Given the description of an element on the screen output the (x, y) to click on. 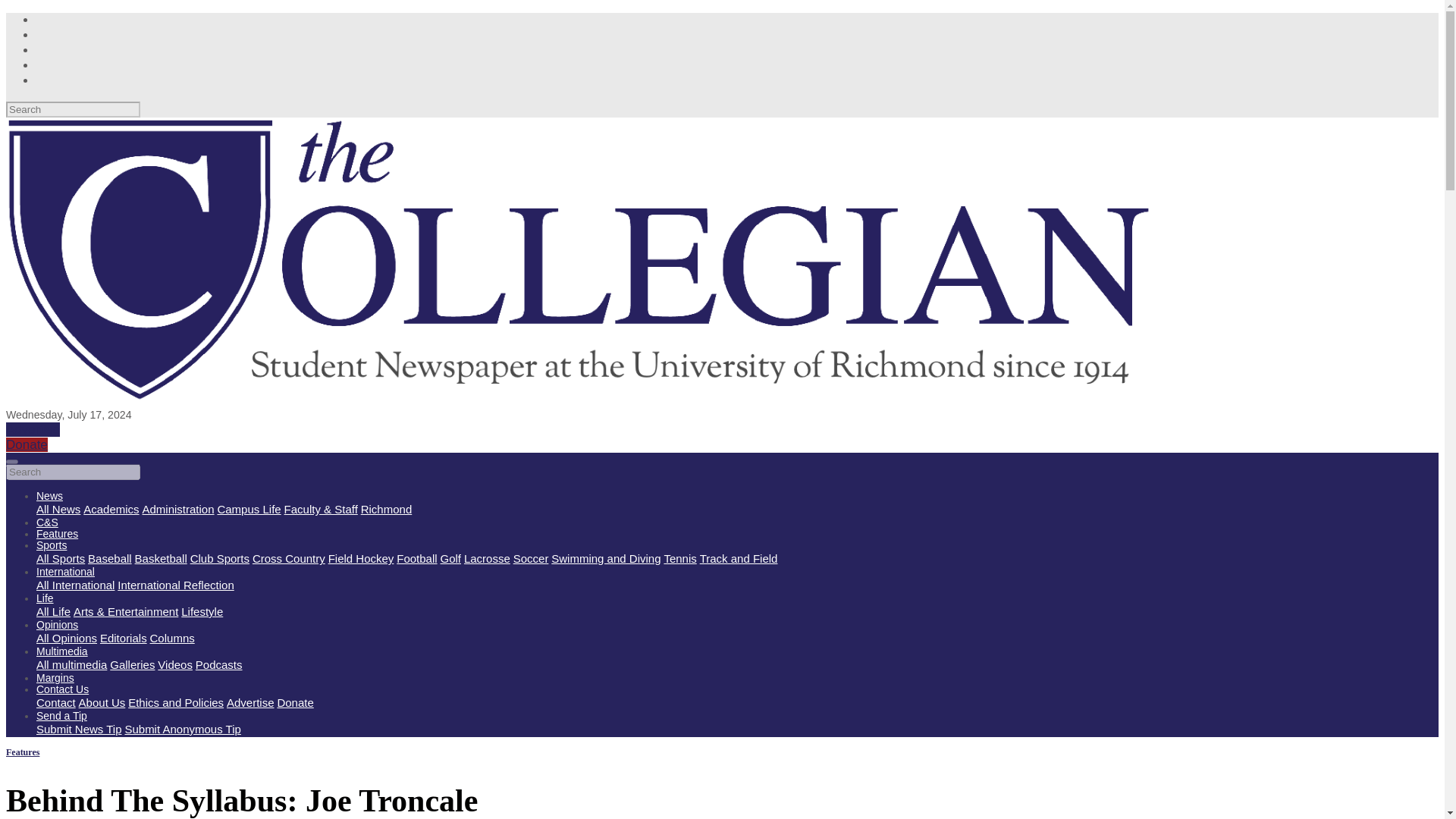
News (49, 495)
Margins (55, 677)
Lacrosse (487, 558)
Field Hockey (361, 558)
Features (57, 533)
Football (416, 558)
Life (44, 598)
Golf (451, 558)
All News (58, 508)
Lifestyle (201, 611)
Richmond (386, 508)
International (65, 571)
Cross Country (287, 558)
All Sports (60, 558)
Basketball (161, 558)
